Given the description of an element on the screen output the (x, y) to click on. 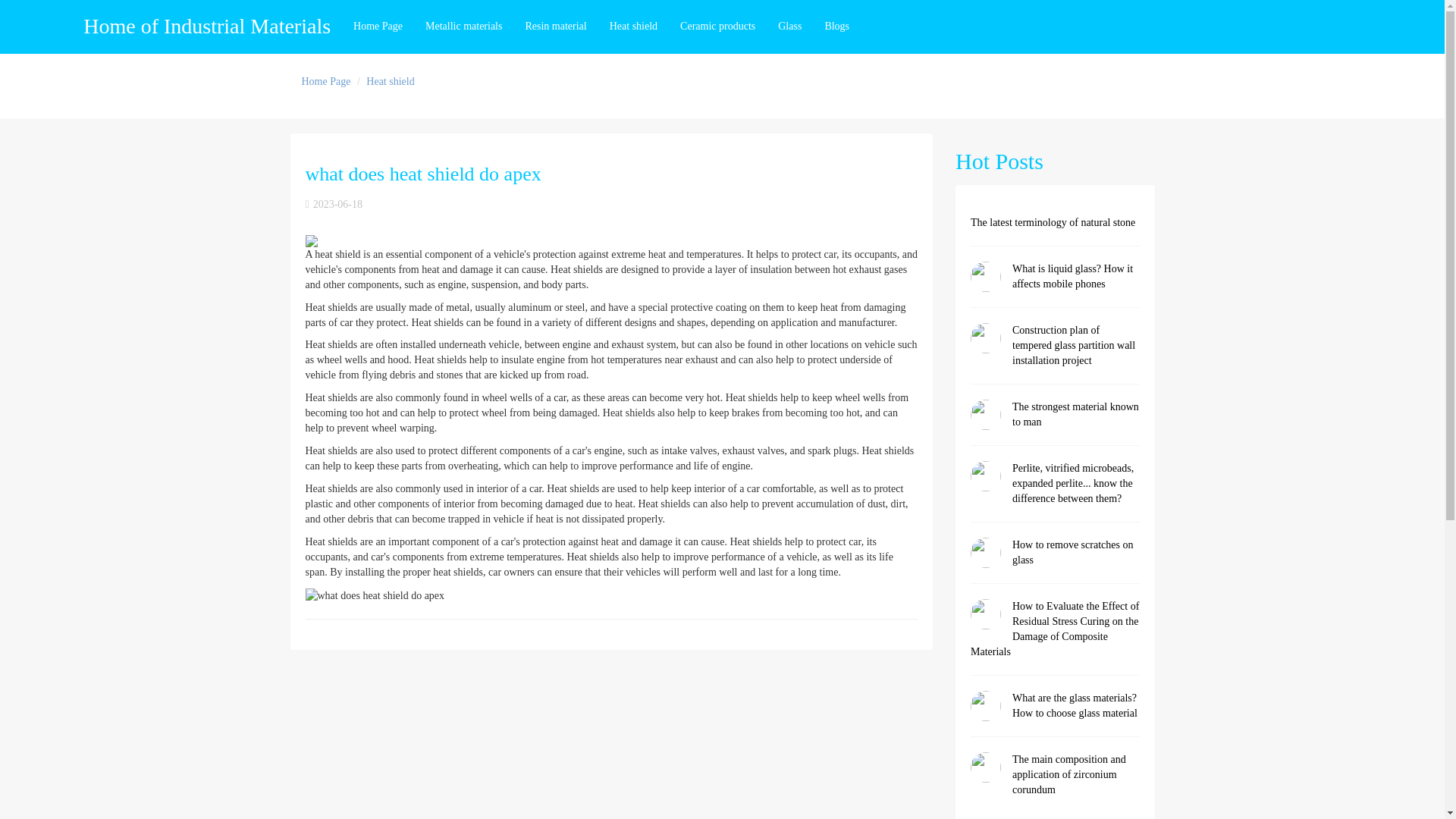
Home of Industrial Materials (206, 26)
Blogs (836, 26)
The strongest material known to man (1055, 422)
Resin material (554, 26)
What are the glass materials? How to choose glass material (1055, 714)
Heat shield (389, 81)
What is liquid glass? How it affects mobile phones (1055, 284)
Heat shield (633, 26)
Home Page (325, 81)
